Given the description of an element on the screen output the (x, y) to click on. 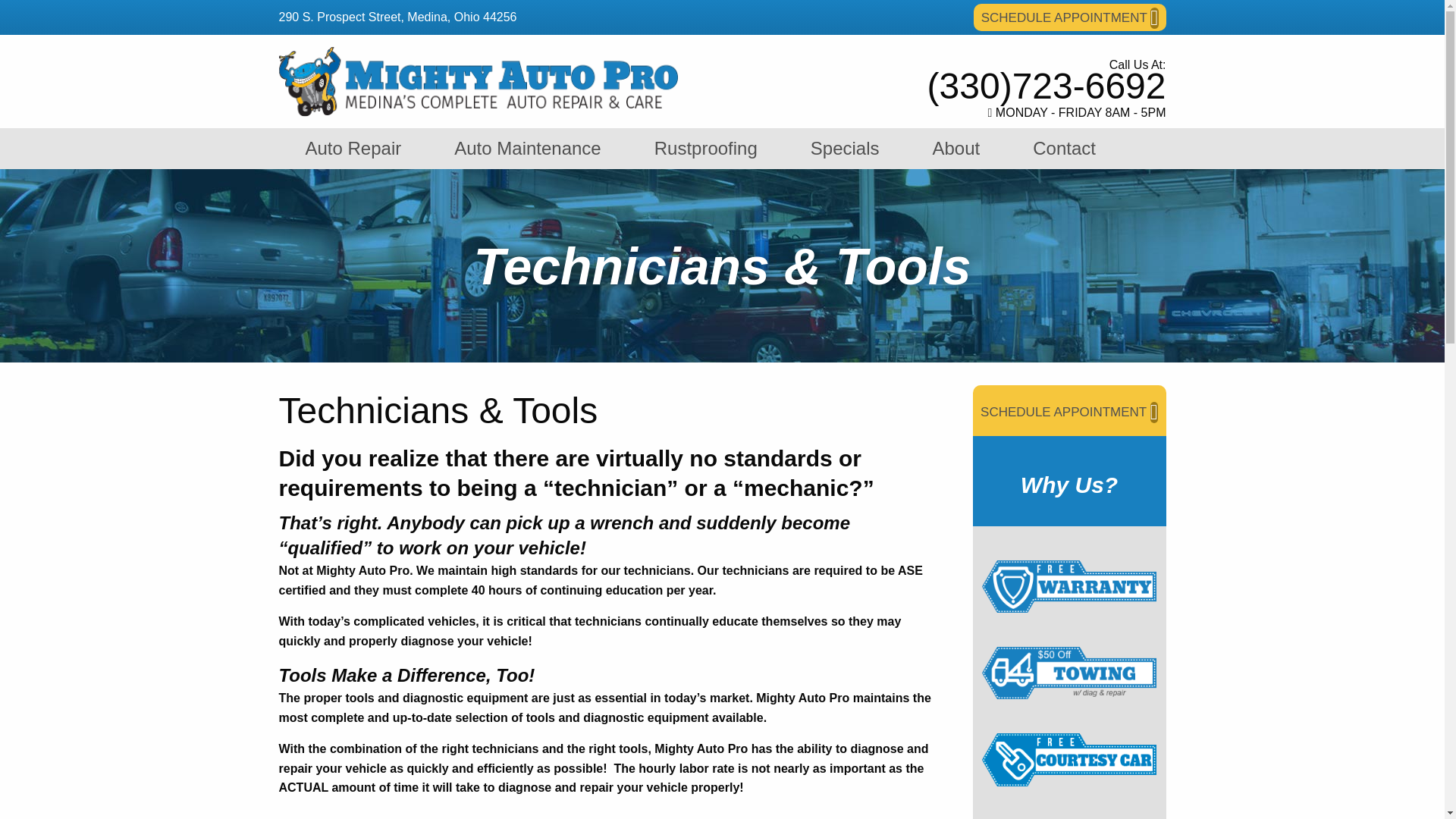
SCHEDULE APPOINTMENT (1069, 409)
Auto Maintenance (527, 147)
About (956, 147)
Contact (1064, 147)
SCHEDULE APPOINTMENT (1070, 17)
Rustproofing (705, 147)
Specials (844, 147)
Auto Repair (353, 147)
